Given the description of an element on the screen output the (x, y) to click on. 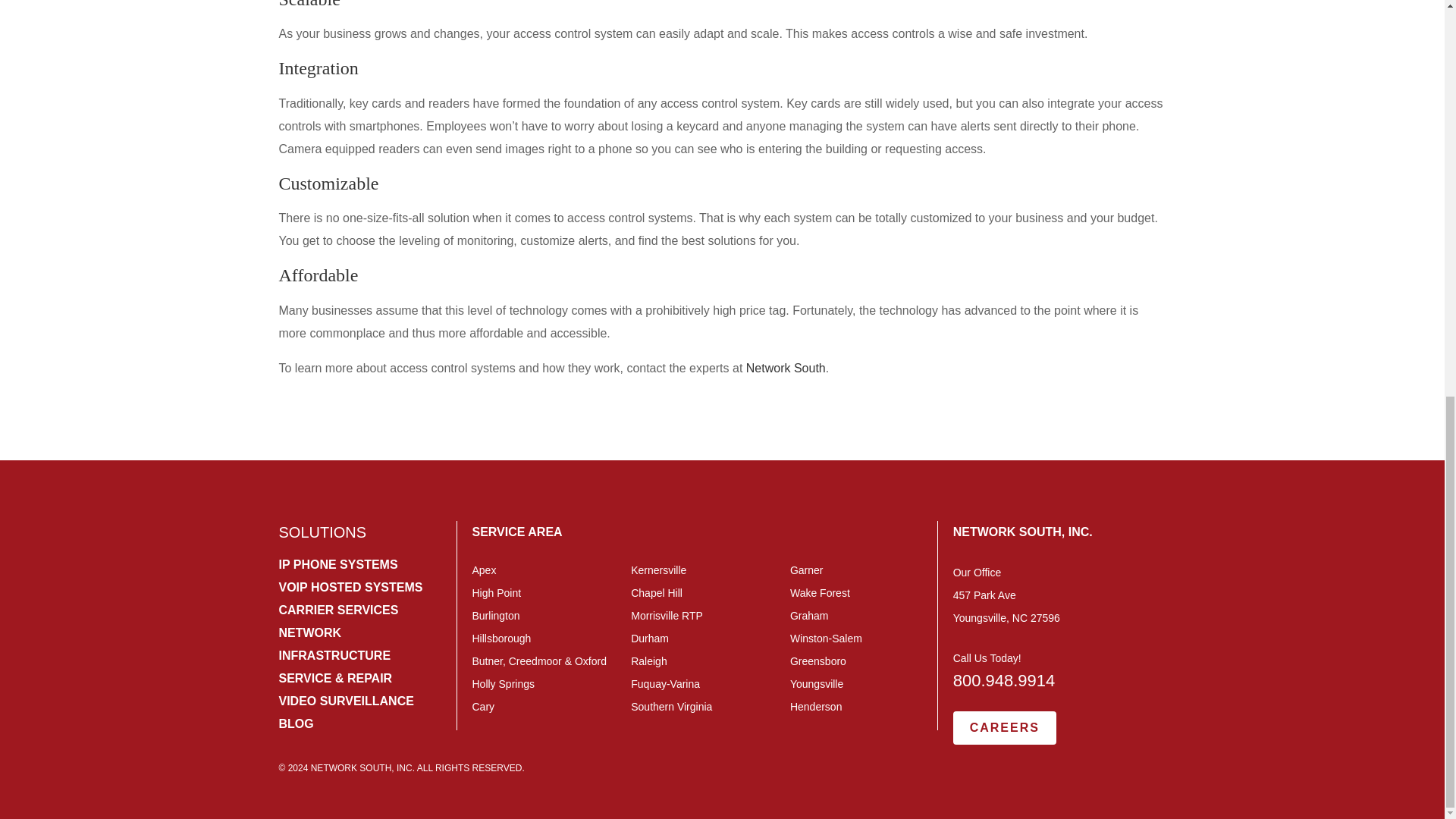
Network South (785, 367)
